Given the description of an element on the screen output the (x, y) to click on. 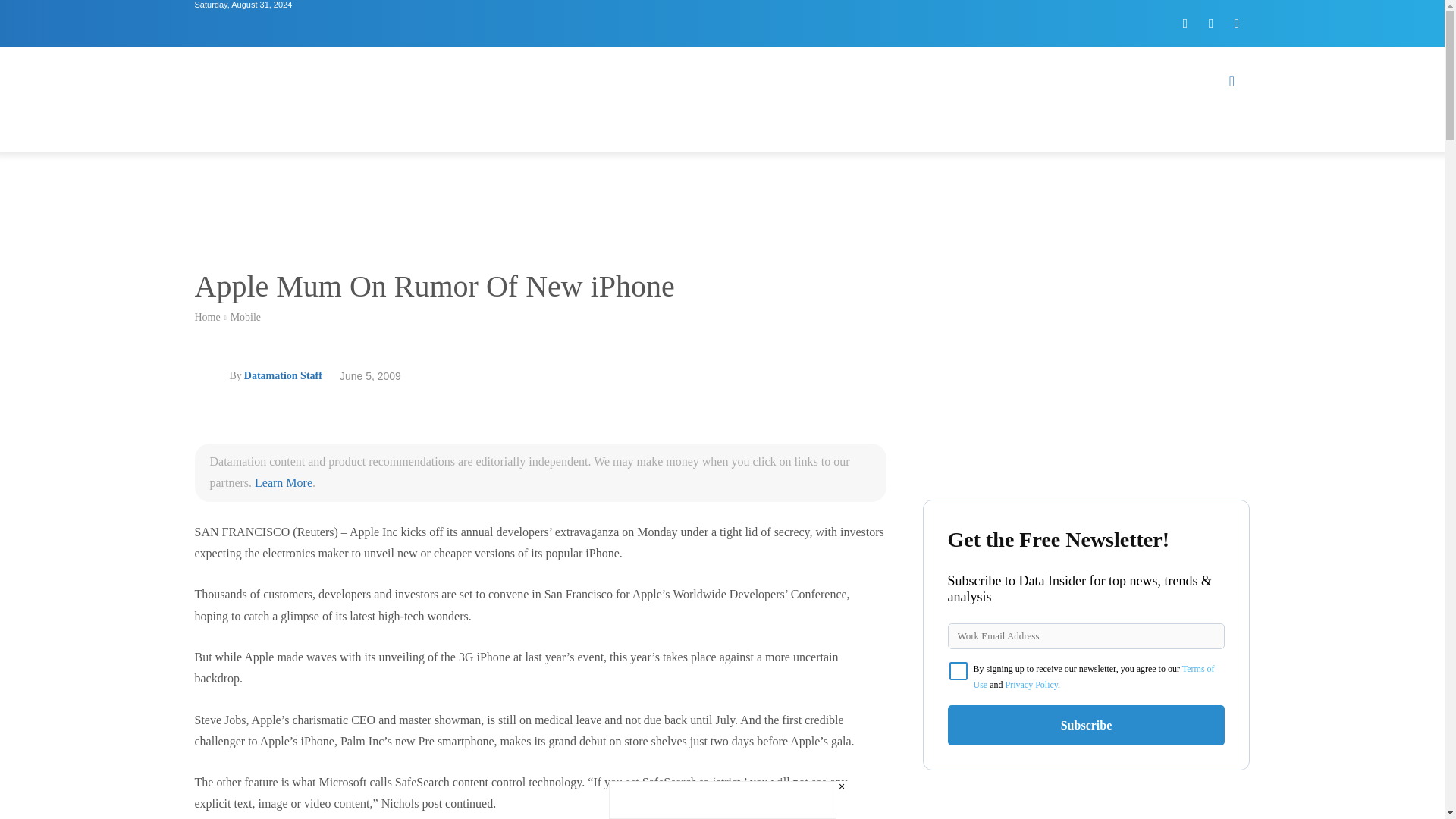
View all posts in Mobile (245, 317)
on (958, 670)
Mobile (245, 317)
Datamation Staff (282, 375)
Learn More (283, 481)
Twitter (1211, 23)
Youtube (1236, 23)
Home (206, 317)
Datamation Staff (210, 376)
Facebook (1185, 23)
